Given the description of an element on the screen output the (x, y) to click on. 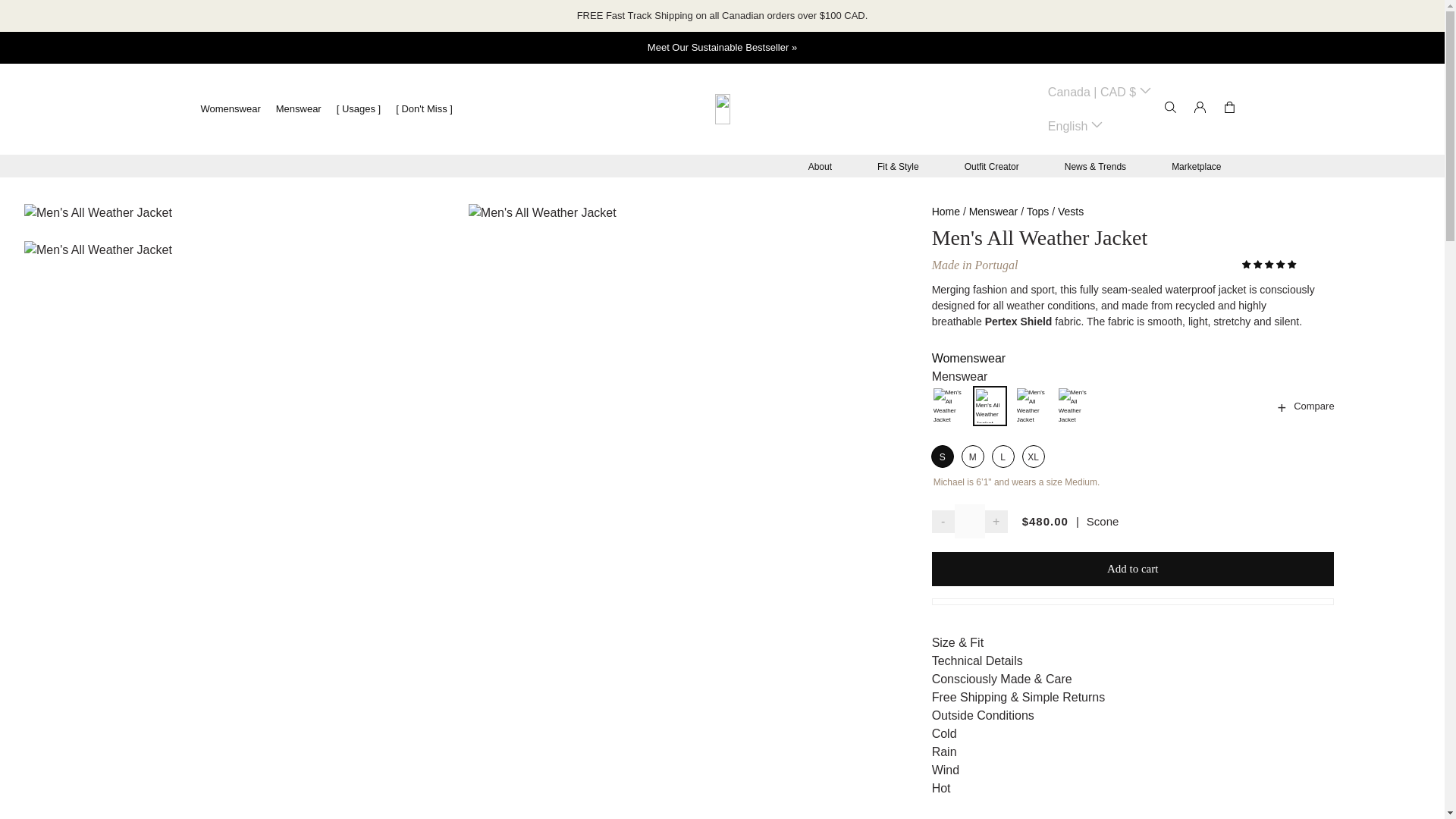
Skip to content (33, 10)
